Given the description of an element on the screen output the (x, y) to click on. 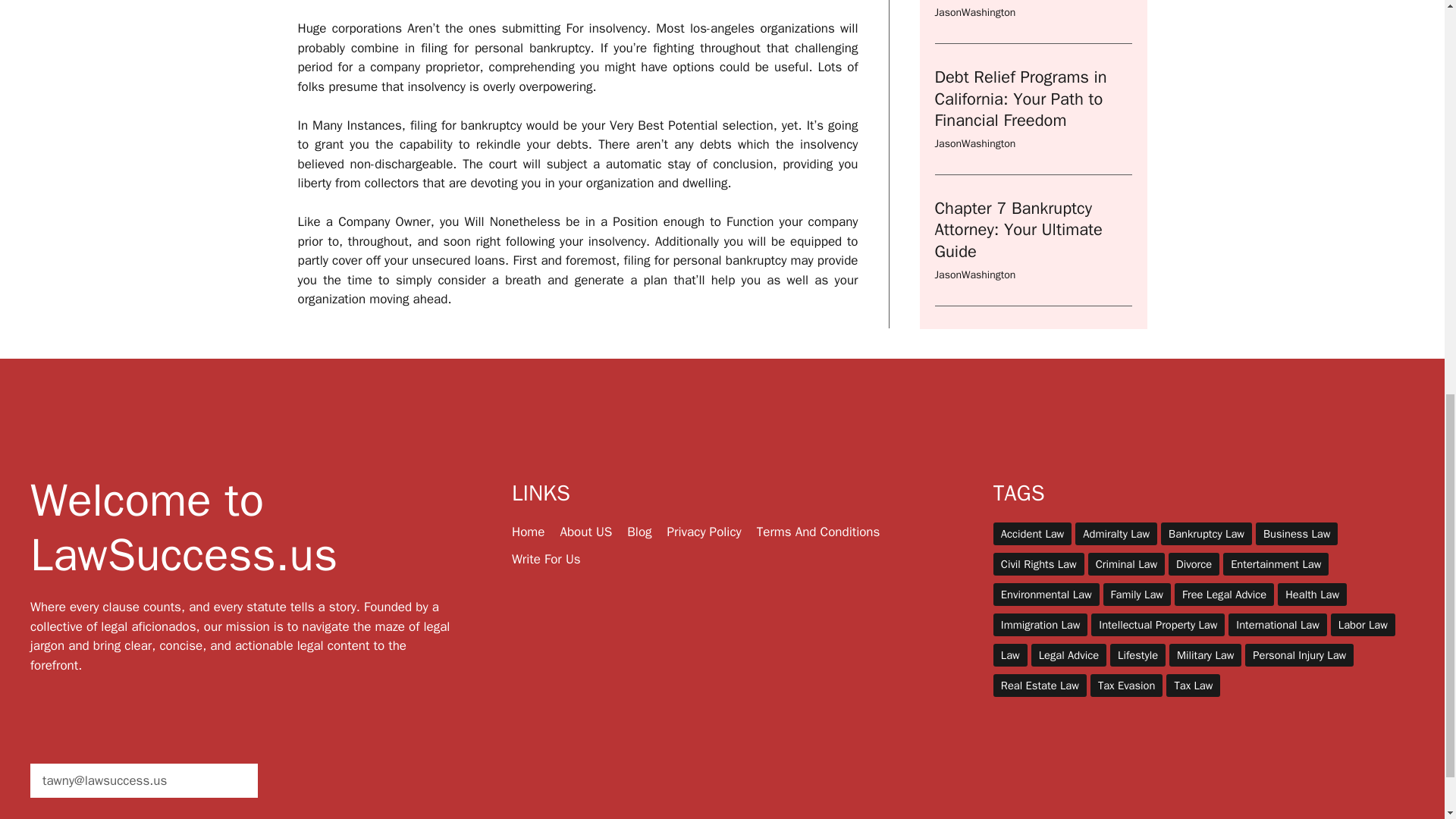
Privacy Policy (703, 531)
Family Law (1136, 594)
Criminal Law (1125, 563)
Bankruptcy Law (1206, 533)
Free Legal Advice (1224, 594)
Admiralty Law (1116, 533)
International Law (1277, 624)
Immigration Law (1039, 624)
Divorce (1194, 563)
Blog (638, 531)
